Given the description of an element on the screen output the (x, y) to click on. 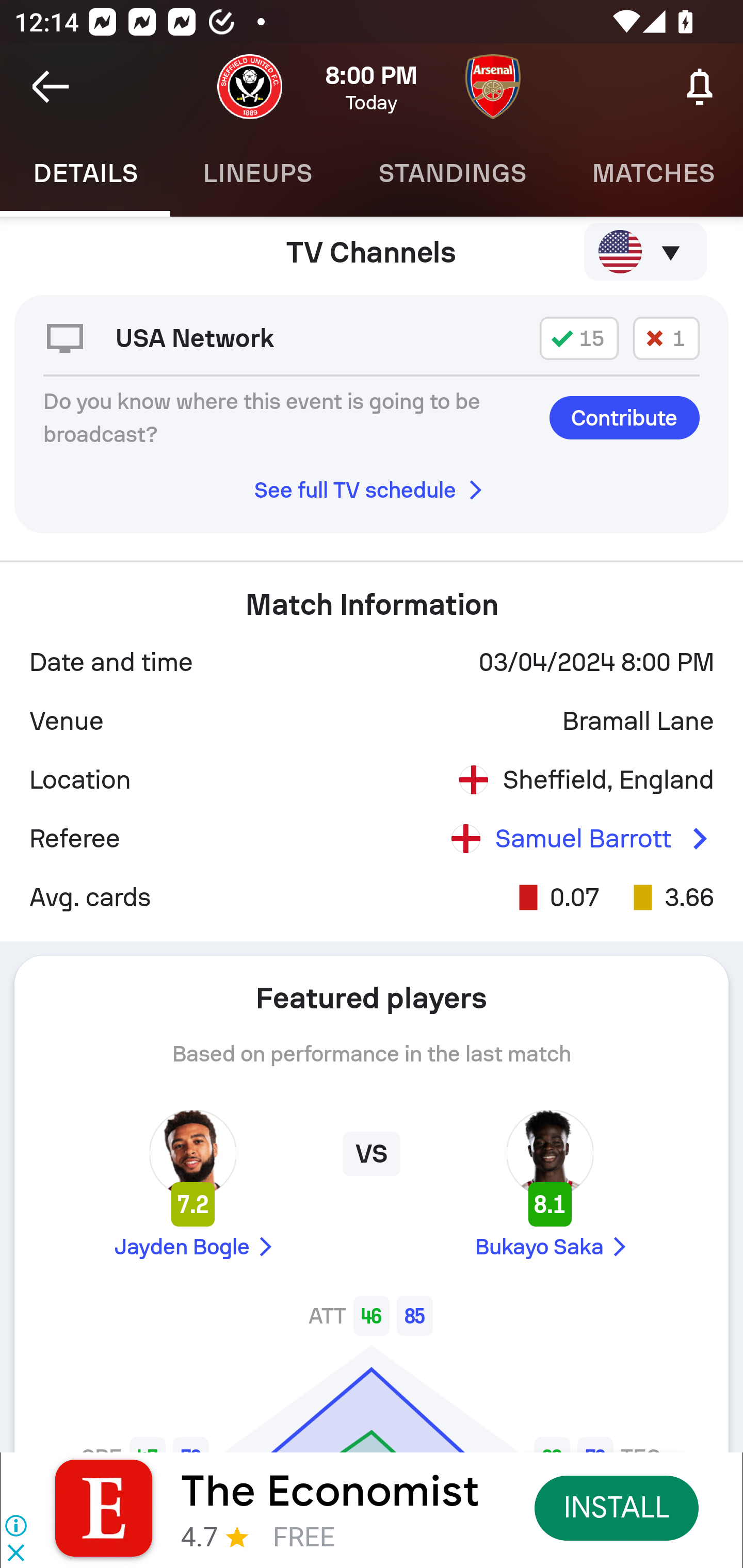
Navigate up (50, 86)
Lineups LINEUPS (257, 173)
Standings STANDINGS (451, 173)
Matches MATCHES (650, 173)
15 (578, 338)
1 (666, 338)
Contribute (624, 417)
See full TV schedule (371, 489)
Referee Samuel Barrott (371, 838)
The Economist (329, 1490)
INSTALL (615, 1507)
